Given the description of an element on the screen output the (x, y) to click on. 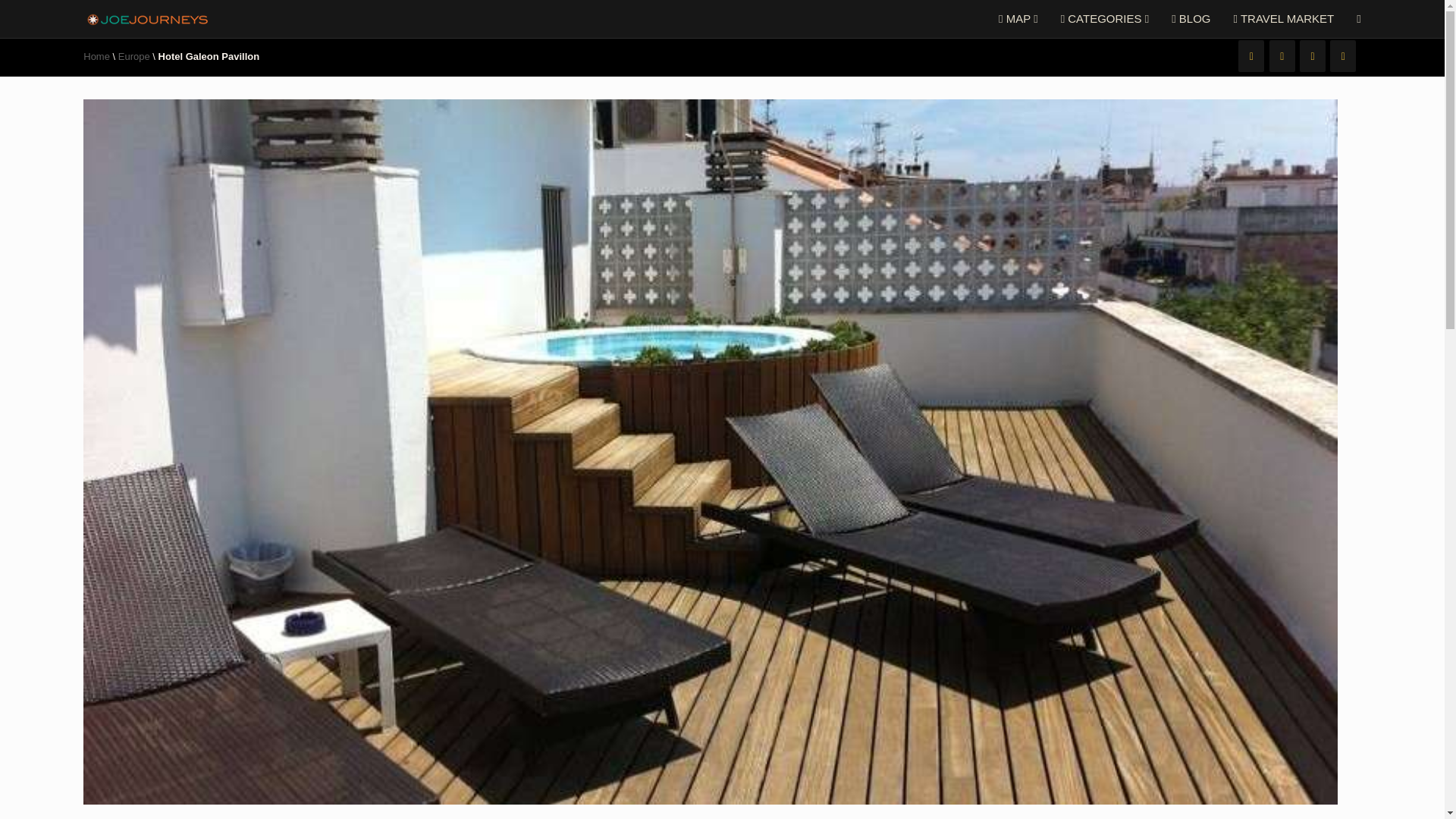
Home (96, 56)
Hotel Galeon Pavillon - JOEJOURNEYS (147, 18)
MAP (1018, 18)
CATEGORIES (1104, 18)
TRAVEL MARKET (1284, 18)
Europe (133, 56)
BLOG (1190, 18)
